Given the description of an element on the screen output the (x, y) to click on. 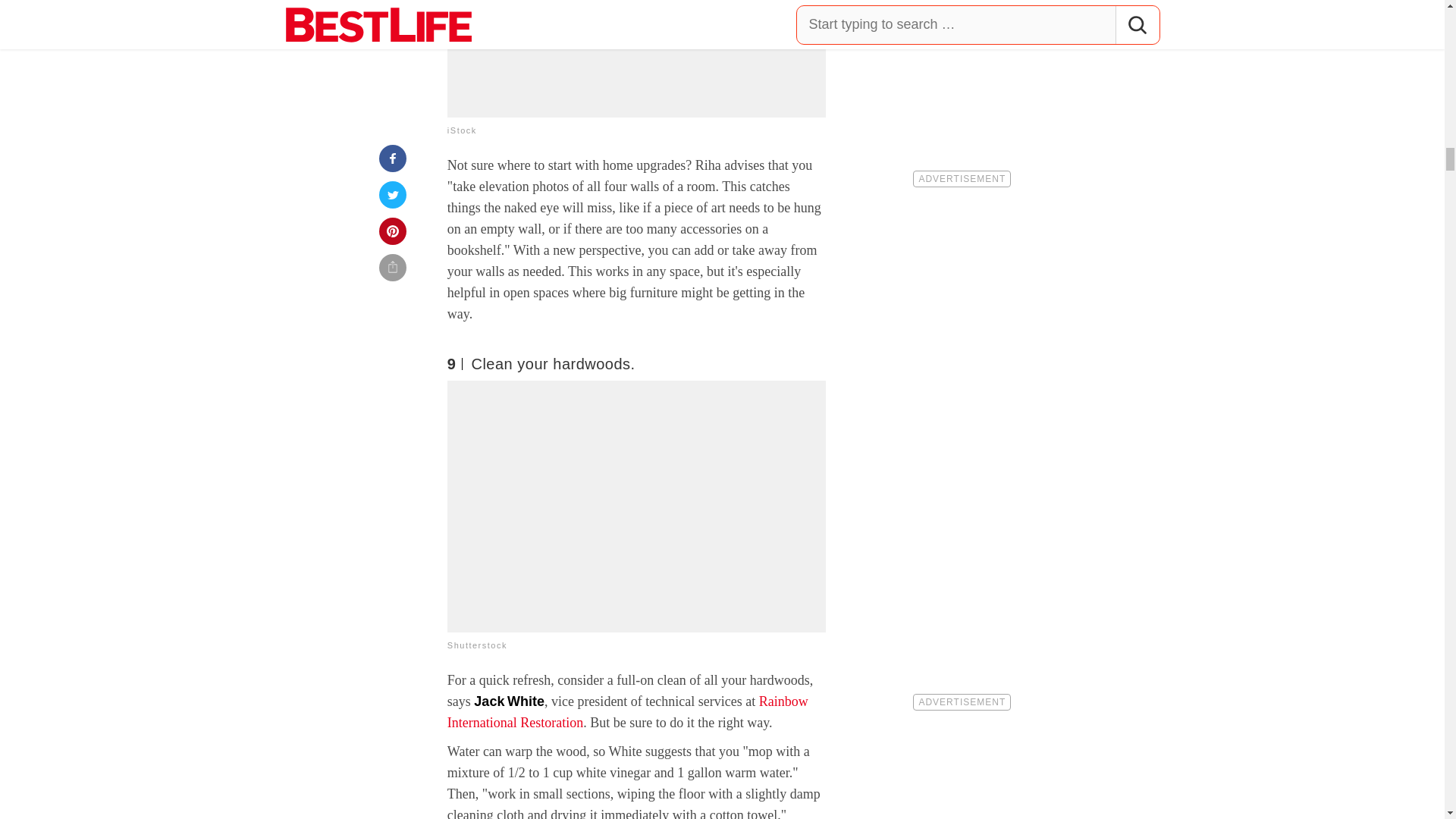
Rainbow International Restoration (627, 711)
